Given the description of an element on the screen output the (x, y) to click on. 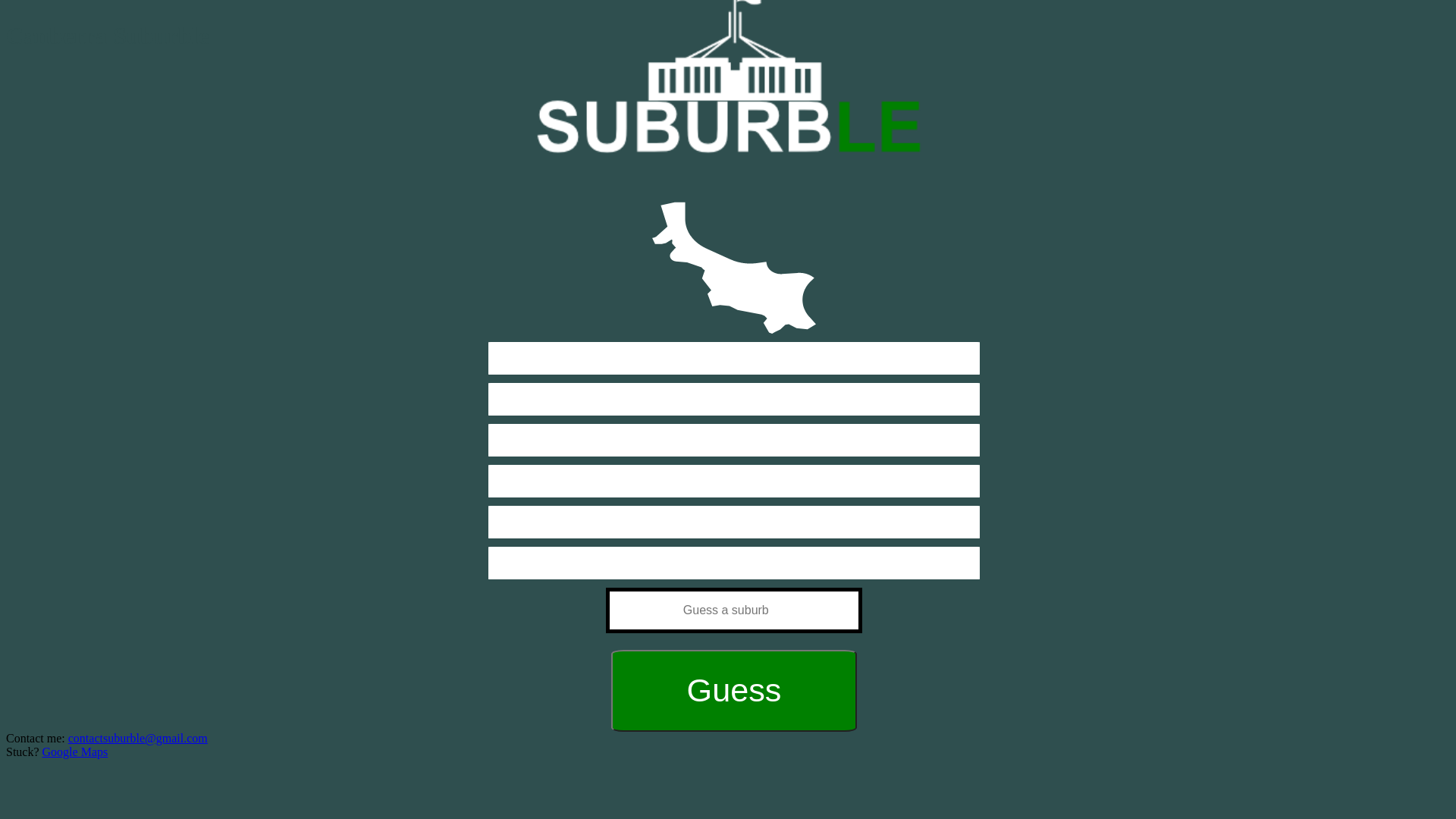
Guess Element type: text (733, 690)
Google Maps Element type: text (75, 751)
contactsuburble@gmail.com Element type: text (137, 737)
